Given the description of an element on the screen output the (x, y) to click on. 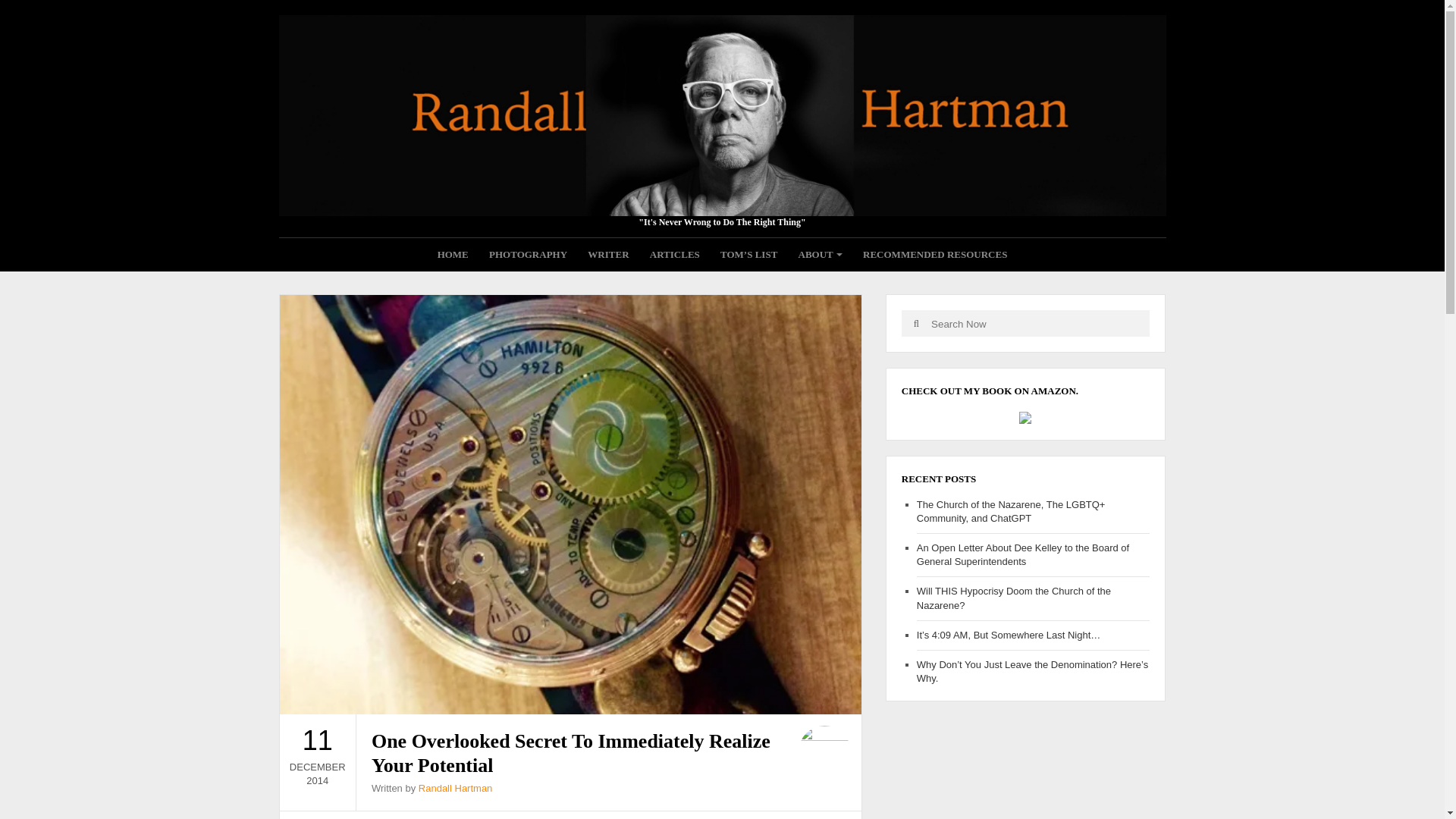
December 11, 2014 (317, 754)
HOME (453, 254)
ARTICLES (674, 254)
Search (916, 323)
Will THIS Hypocrisy Doom the Church of the Nazarene? (1013, 597)
PHOTOGRAPHY (528, 254)
RECOMMENDED RESOURCES (935, 254)
Randall Hartman (456, 787)
ABOUT (820, 254)
WRITER (608, 254)
Posts by Randall Hartman (456, 787)
